Given the description of an element on the screen output the (x, y) to click on. 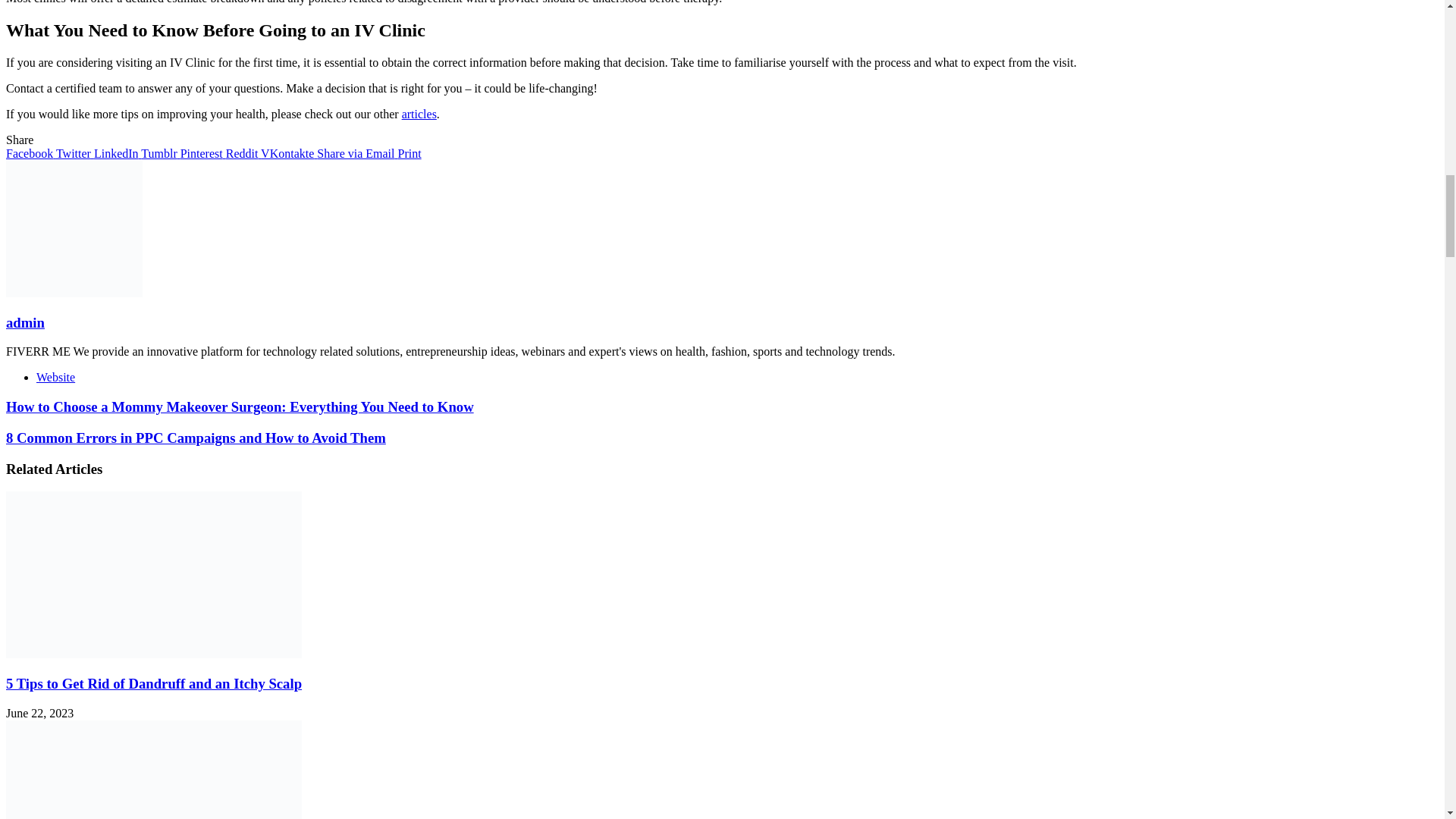
articles (418, 113)
Facebook (28, 153)
Twitter (71, 153)
